Given the description of an element on the screen output the (x, y) to click on. 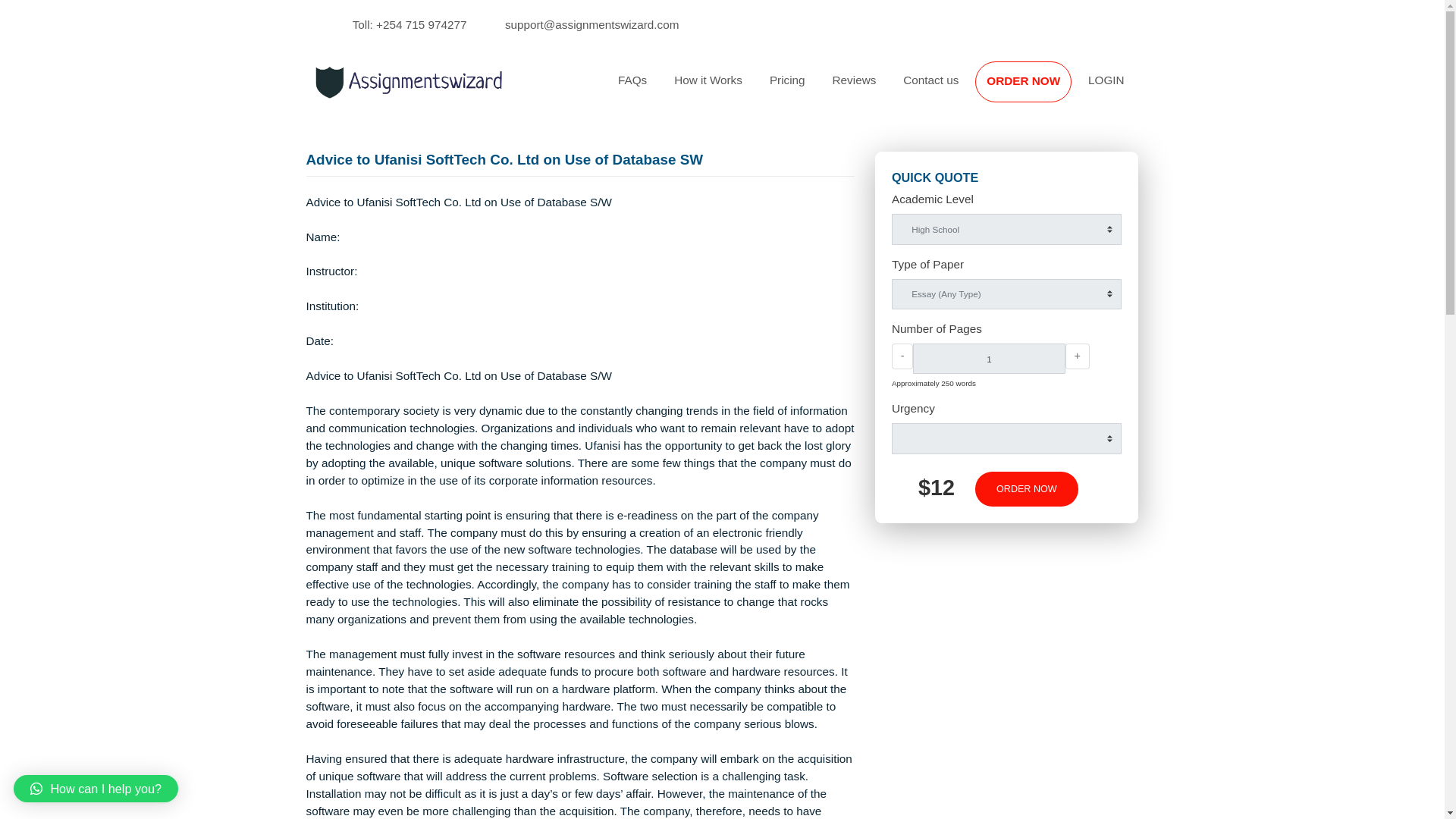
Contact us (1034, 89)
Pricing (875, 89)
How it Works (786, 89)
How it Works (786, 89)
FAQs (702, 89)
ORDER NOW (1140, 542)
LOGIN (1229, 89)
ORDER NOW (1137, 90)
Reviews (948, 89)
1 (1098, 398)
ORDER NOW (1137, 90)
- (1002, 395)
FAQs (702, 89)
Pricing (875, 89)
LOGIN (1229, 89)
